Given the description of an element on the screen output the (x, y) to click on. 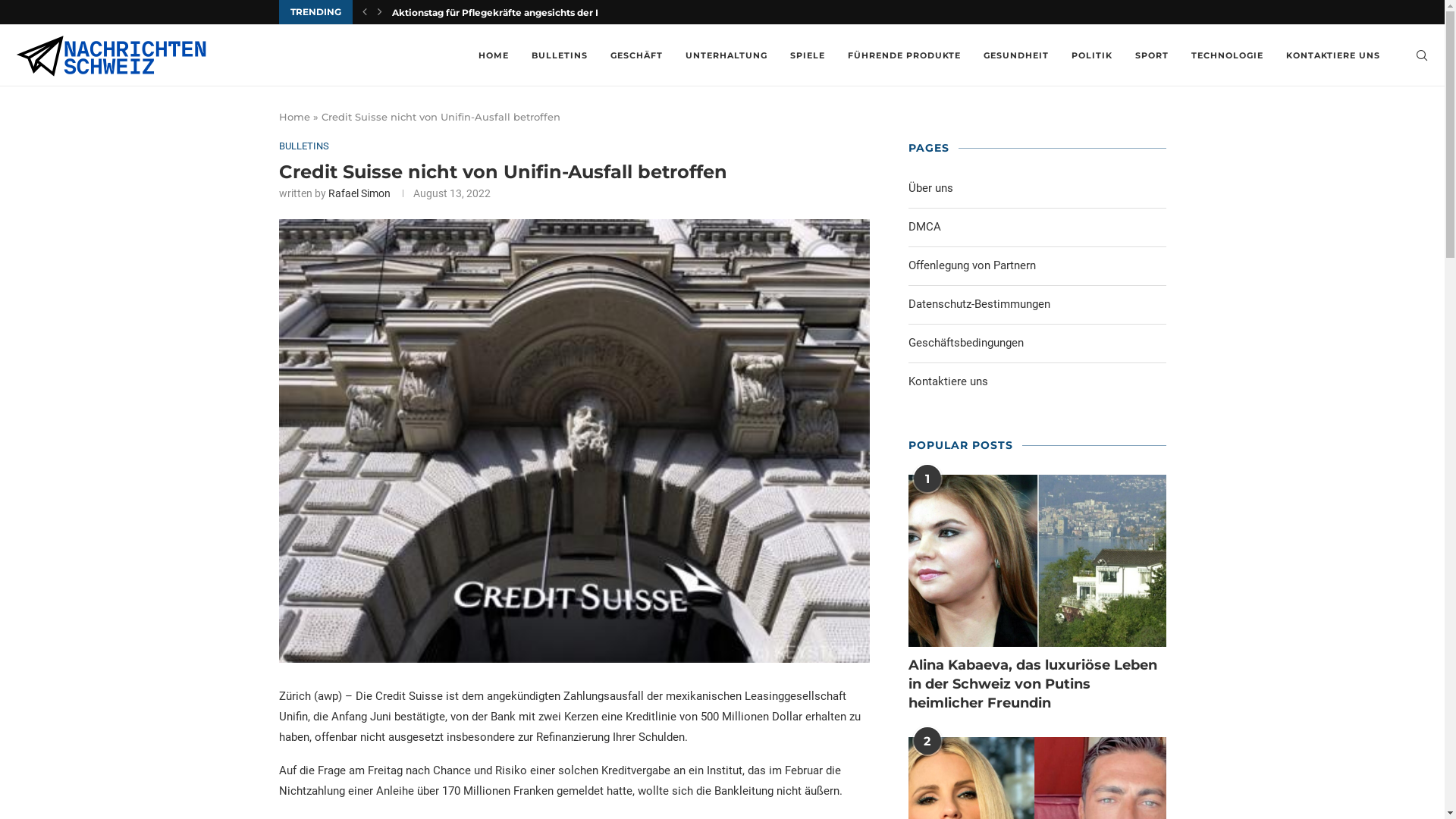
DMCA Element type: text (924, 226)
BULLETINS Element type: text (559, 55)
GESUNDHEIT Element type: text (1015, 55)
UNTERHALTUNG Element type: text (726, 55)
SPORT Element type: text (1151, 55)
POLITIK Element type: text (1091, 55)
Datenschutz-Bestimmungen Element type: text (979, 303)
KONTAKTIERE UNS Element type: text (1333, 55)
HOME Element type: text (493, 55)
TECHNOLOGIE Element type: text (1227, 55)
Kontaktiere uns Element type: text (948, 381)
Home Element type: text (294, 116)
Rafael Simon Element type: text (358, 193)
SPIELE Element type: text (807, 55)
BULLETINS Element type: text (304, 146)
Offenlegung von Partnern Element type: text (971, 264)
